Given the description of an element on the screen output the (x, y) to click on. 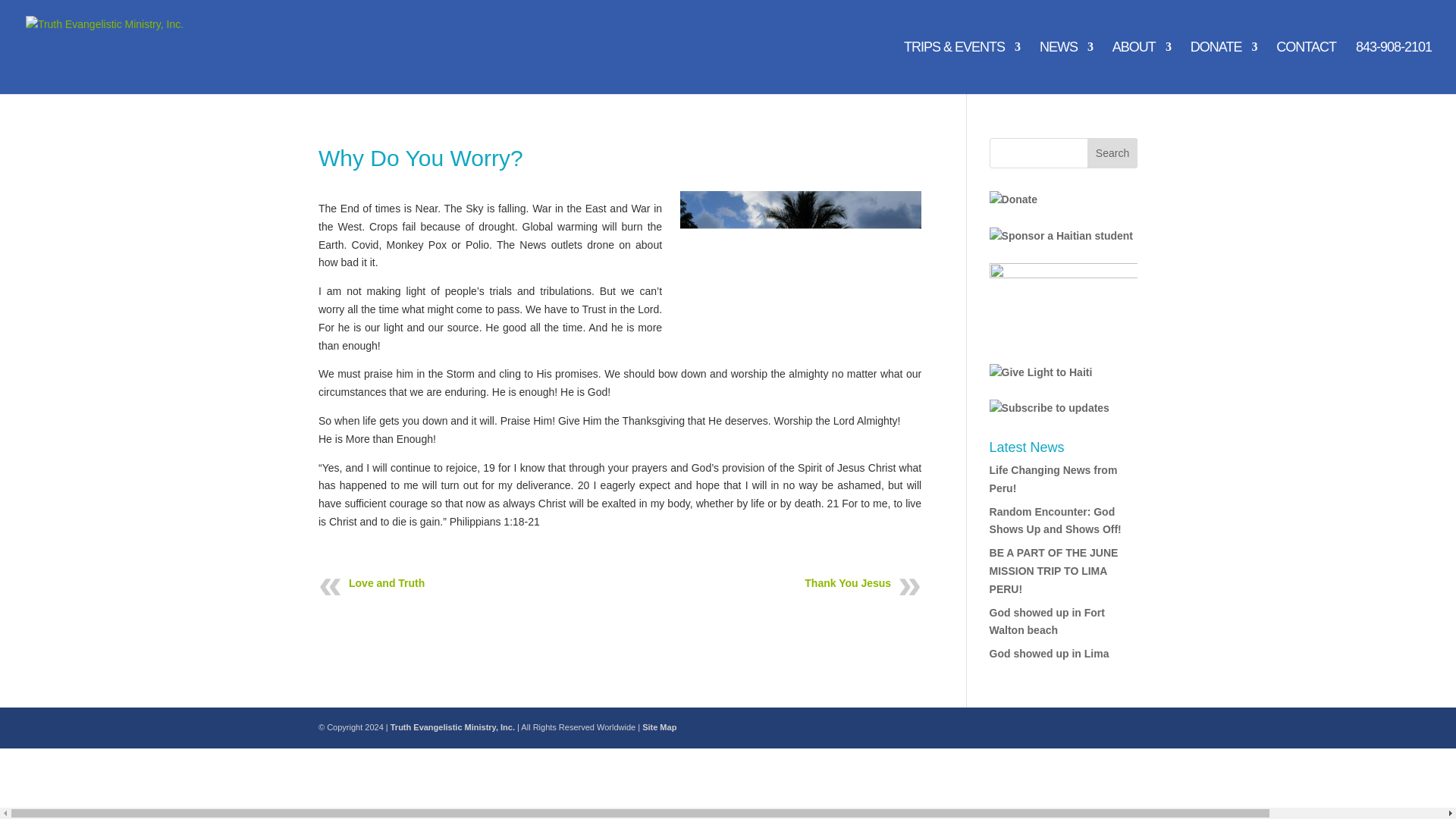
Love and Truth (387, 582)
Thank You Jesus (848, 582)
Truth Evangelistic Ministry, Inc. (452, 727)
843-908-2101 (1393, 67)
DONATE (1224, 67)
ABOUT (1141, 67)
Search (1112, 153)
Search (1112, 153)
CONTACT (1306, 67)
NEWS (1066, 67)
